Given the description of an element on the screen output the (x, y) to click on. 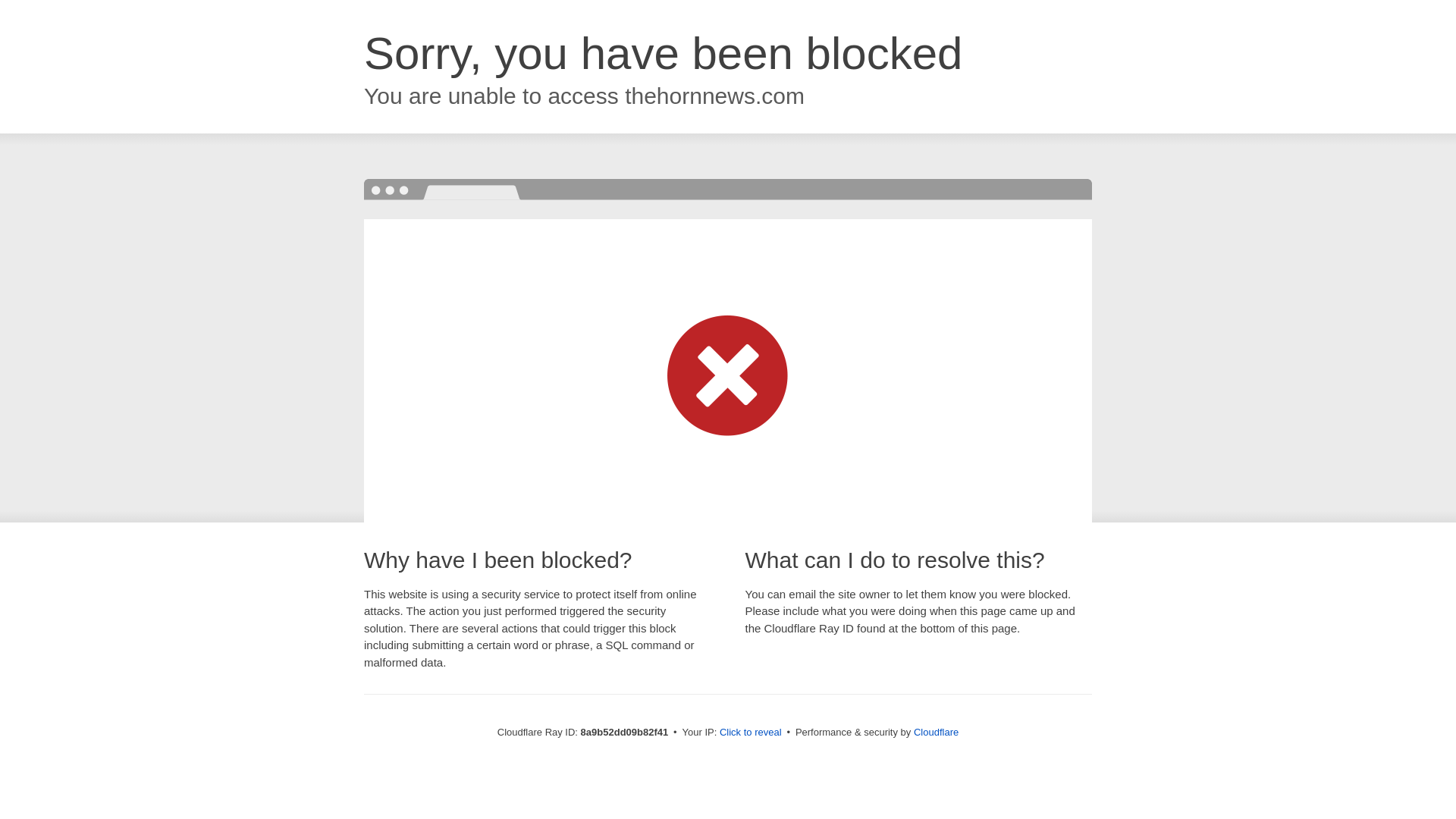
Cloudflare (936, 731)
Click to reveal (750, 732)
